Given the description of an element on the screen output the (x, y) to click on. 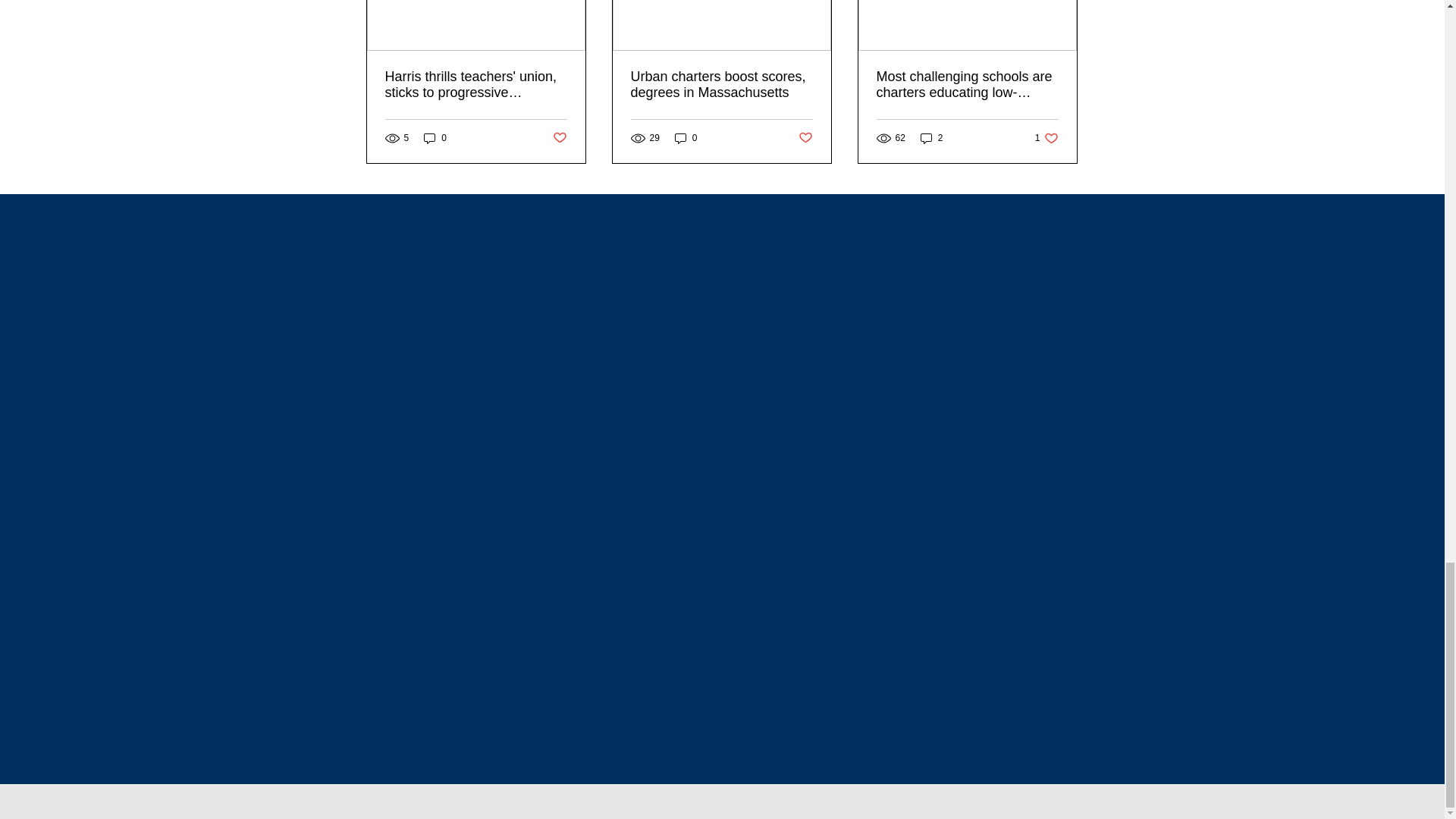
Post not marked as liked (558, 138)
Urban charters boost scores, degrees in Massachusetts (721, 84)
2 (1046, 137)
0 (931, 137)
Post not marked as liked (685, 137)
0 (804, 138)
